Given the description of an element on the screen output the (x, y) to click on. 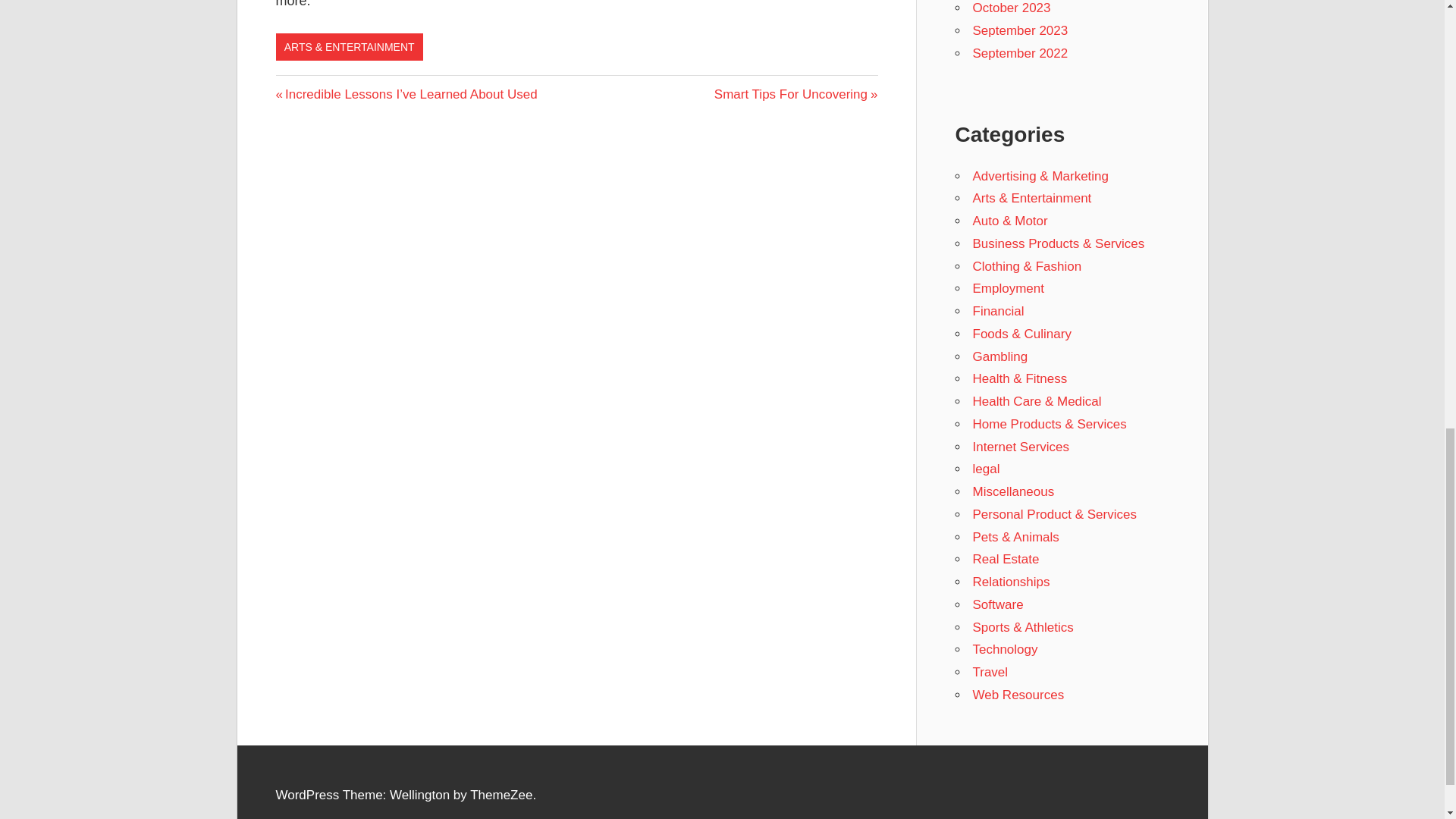
Financial (997, 310)
October 2023 (1010, 7)
September 2022 (795, 93)
Gambling (1019, 52)
Internet Services (999, 356)
Employment (1020, 446)
September 2023 (1007, 288)
